Given the description of an element on the screen output the (x, y) to click on. 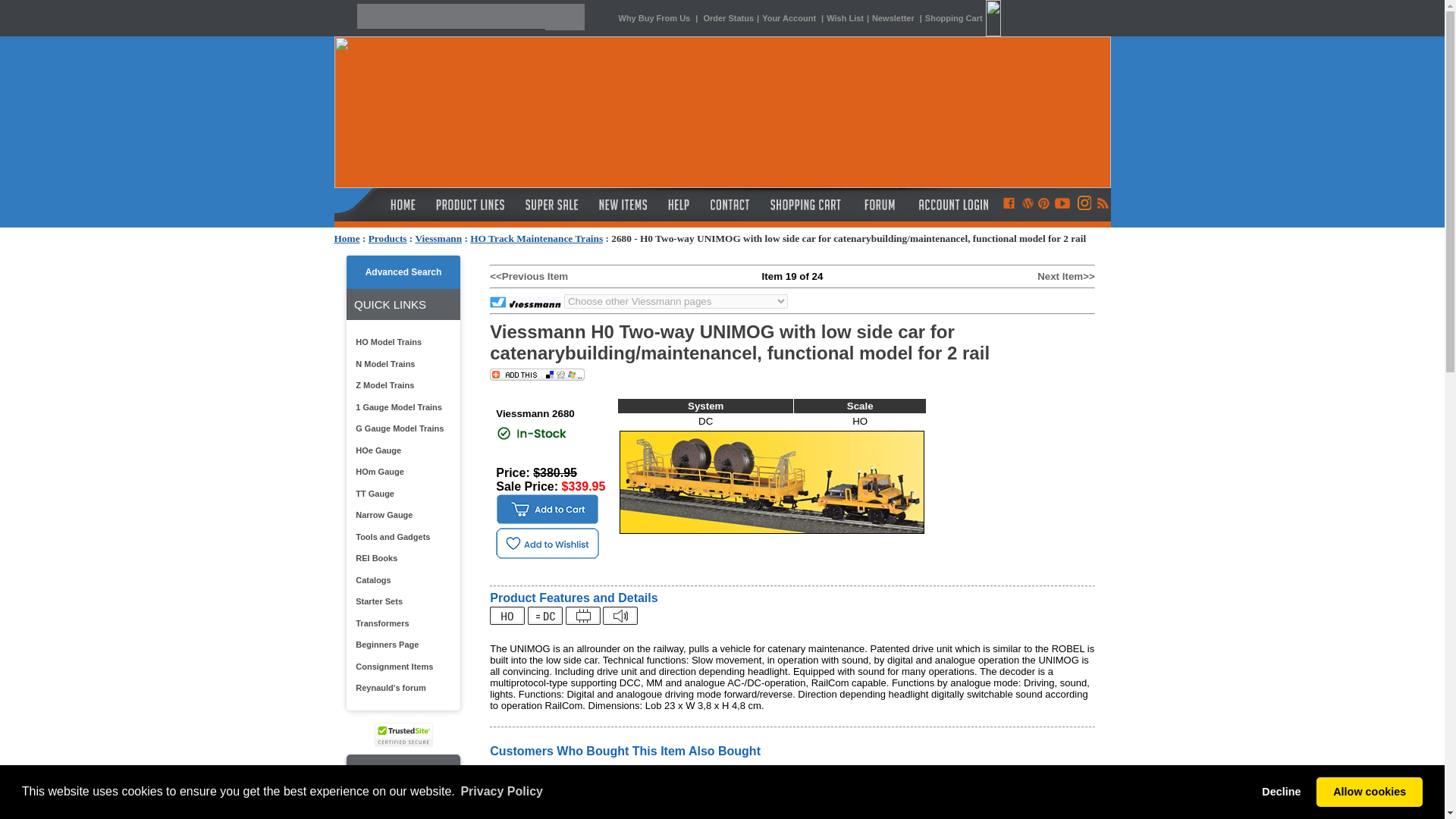
TT Gauge (400, 493)
New Items (622, 204)
Shopping Cart (805, 204)
Decline (1281, 791)
Wish List (845, 17)
Order Status (728, 17)
HOe Gauge (400, 450)
Help (680, 204)
Advanced Search (403, 271)
HO Track Maintenance Trains (536, 238)
Home (346, 238)
Privacy Policy (501, 791)
1 Gauge Model Trains (400, 406)
Advanced Search (403, 271)
HOm Gauge (400, 472)
